Given the description of an element on the screen output the (x, y) to click on. 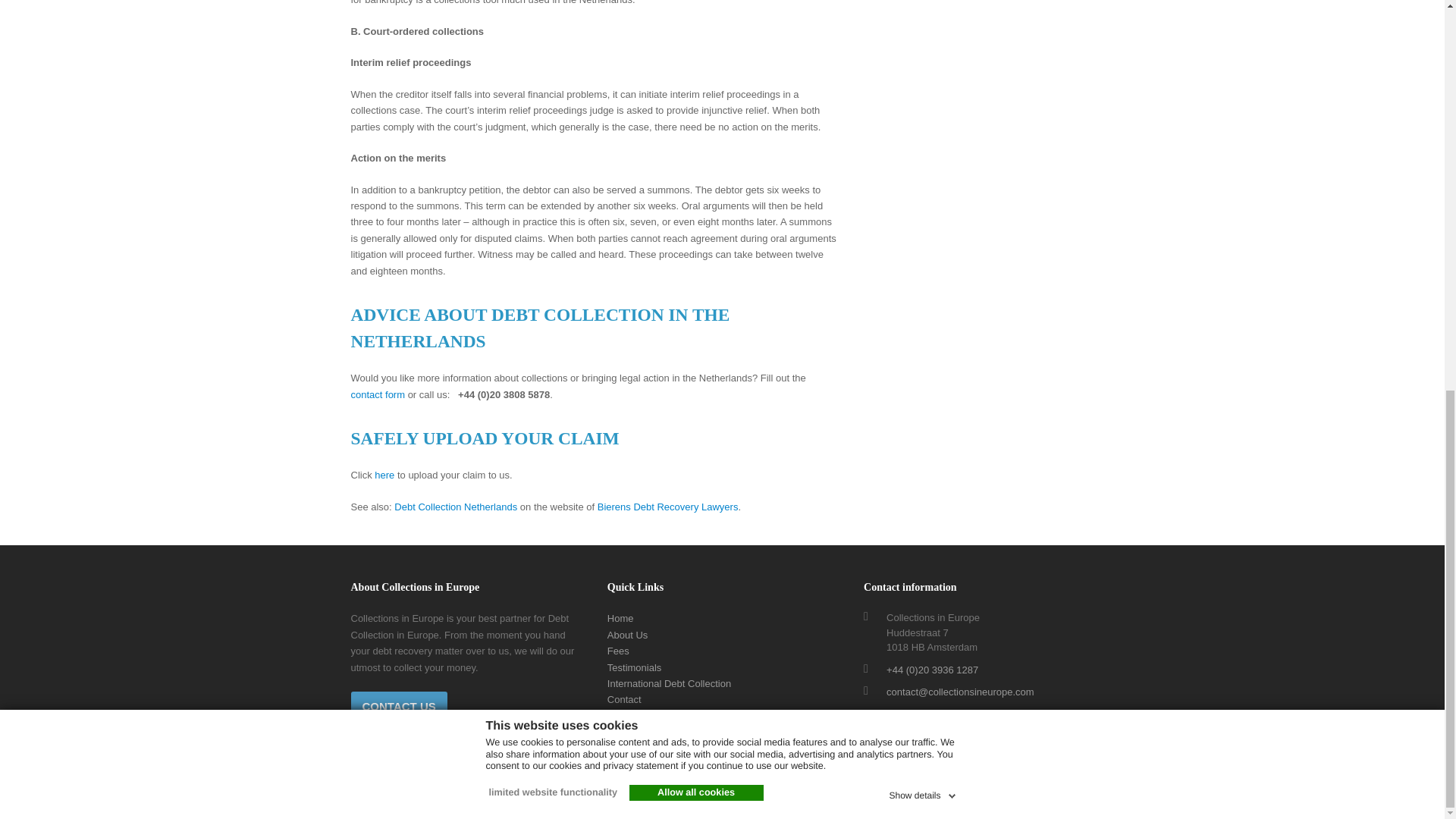
Show details (923, 48)
Allow all cookies (695, 48)
limited website functionality (550, 48)
